Given the description of an element on the screen output the (x, y) to click on. 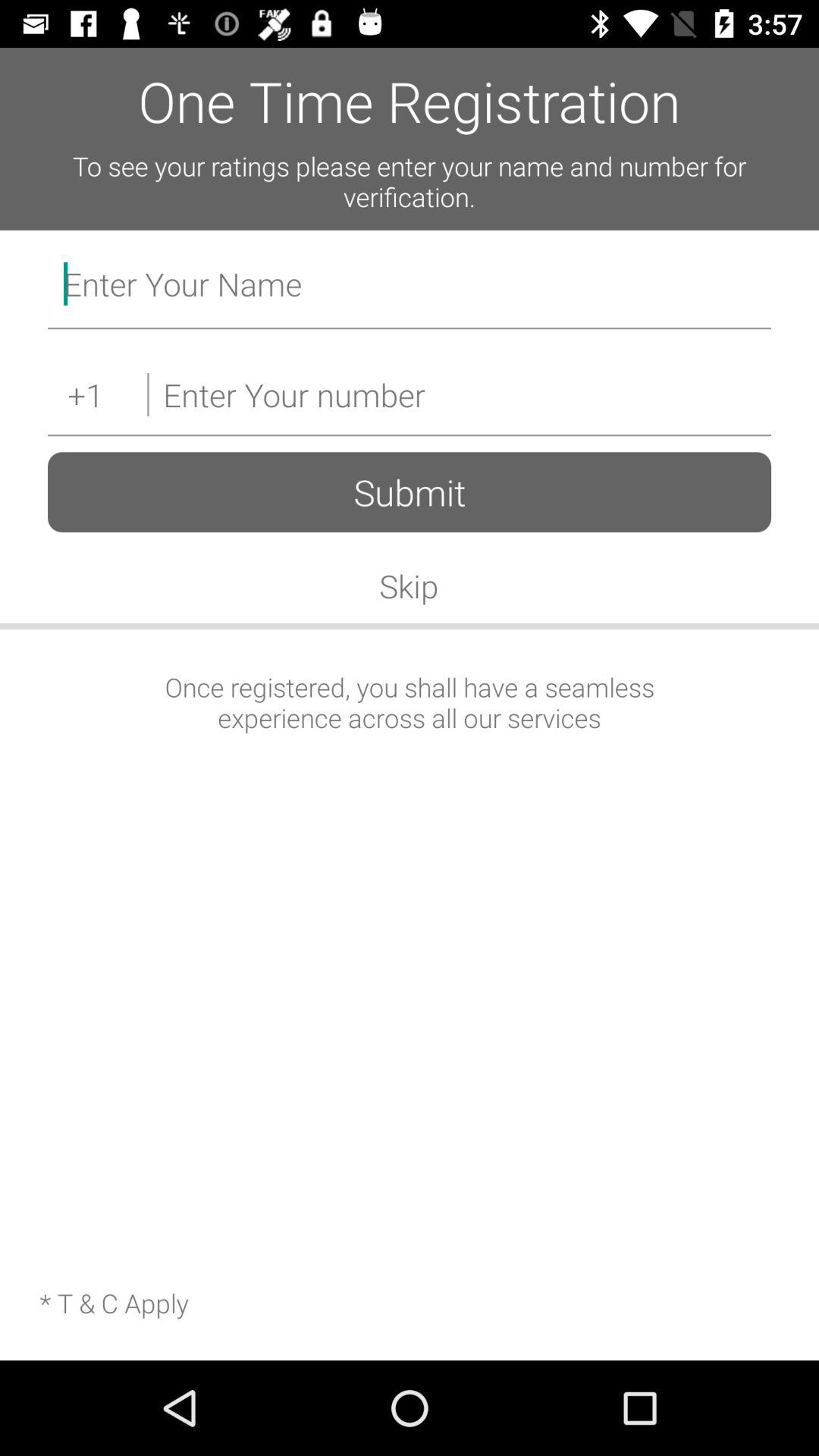
jump to skip icon (408, 585)
